Given the description of an element on the screen output the (x, y) to click on. 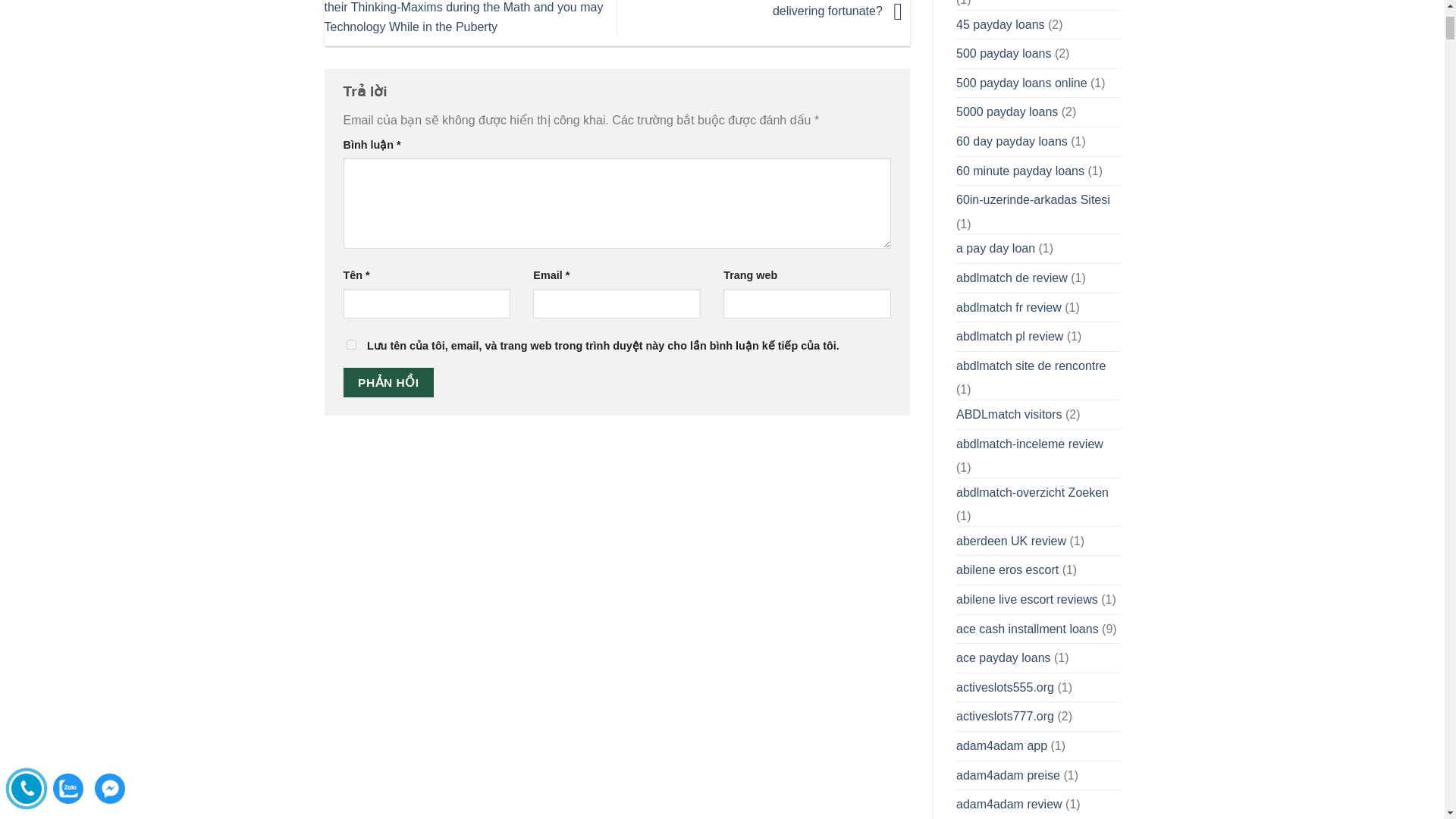
yes (350, 344)
